Given the description of an element on the screen output the (x, y) to click on. 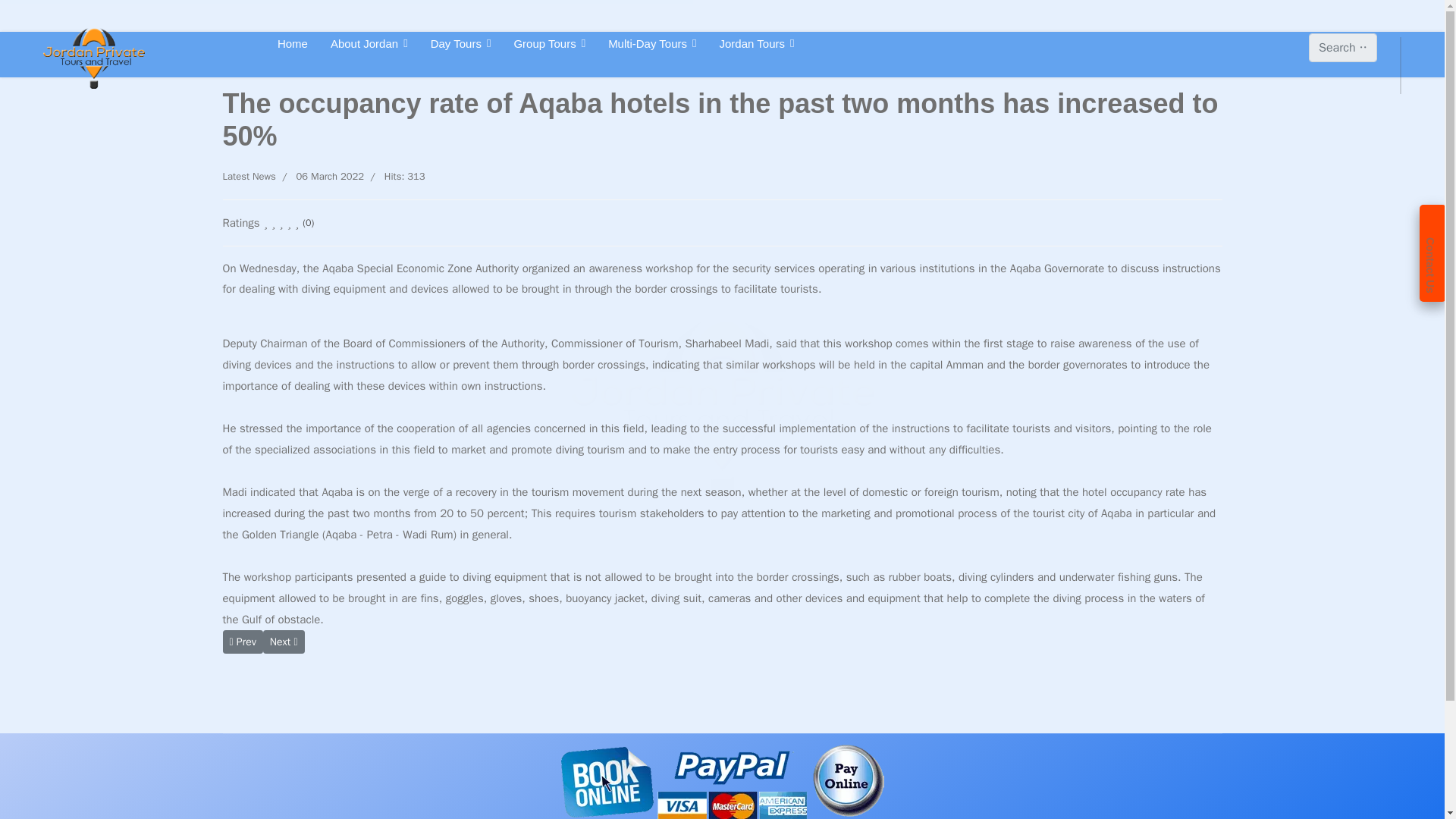
Home (292, 42)
Created: 06 March 2022 (320, 176)
Day Tours (461, 42)
About Jordan (369, 42)
Group Tours (549, 42)
Category: Latest News (249, 176)
